Given the description of an element on the screen output the (x, y) to click on. 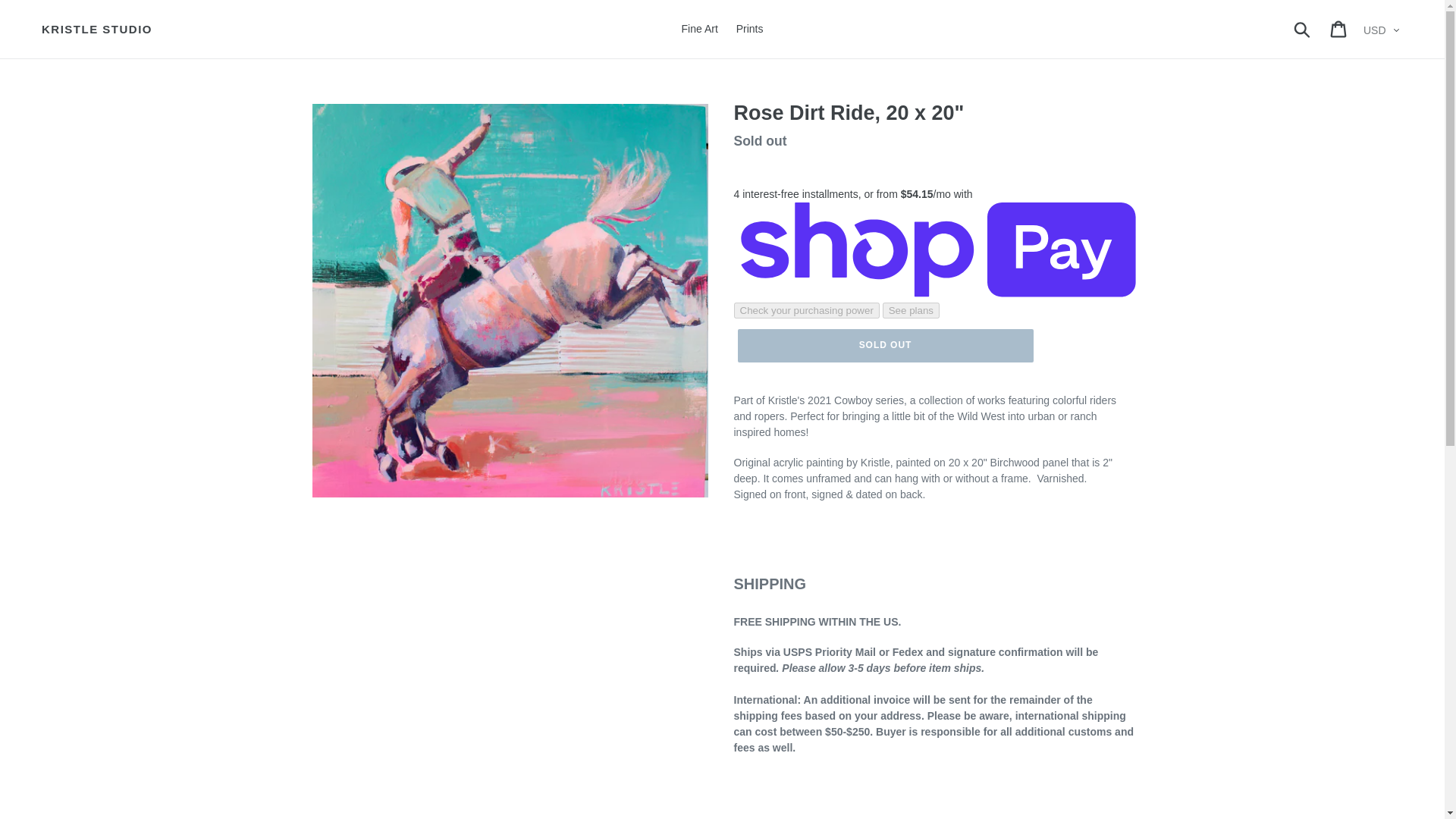
KRISTLE STUDIO (97, 29)
Submit (1303, 28)
Cart (1339, 29)
Fine Art (699, 28)
SOLD OUT (884, 345)
Prints (750, 28)
